Given the description of an element on the screen output the (x, y) to click on. 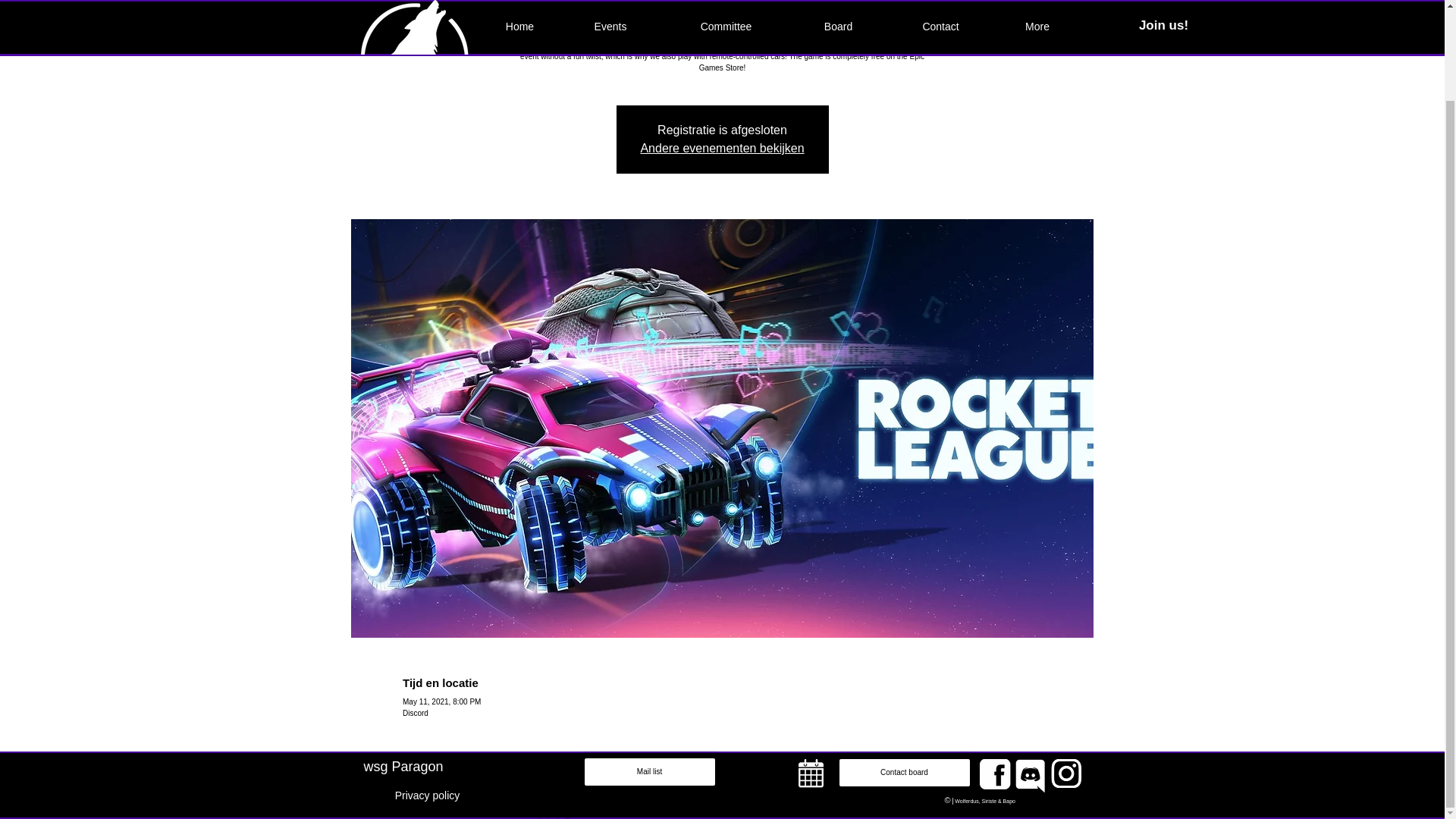
Privacy policy (428, 795)
Mail list (649, 771)
Andere evenementen bekijken (721, 147)
Contact board (904, 772)
